Given the description of an element on the screen output the (x, y) to click on. 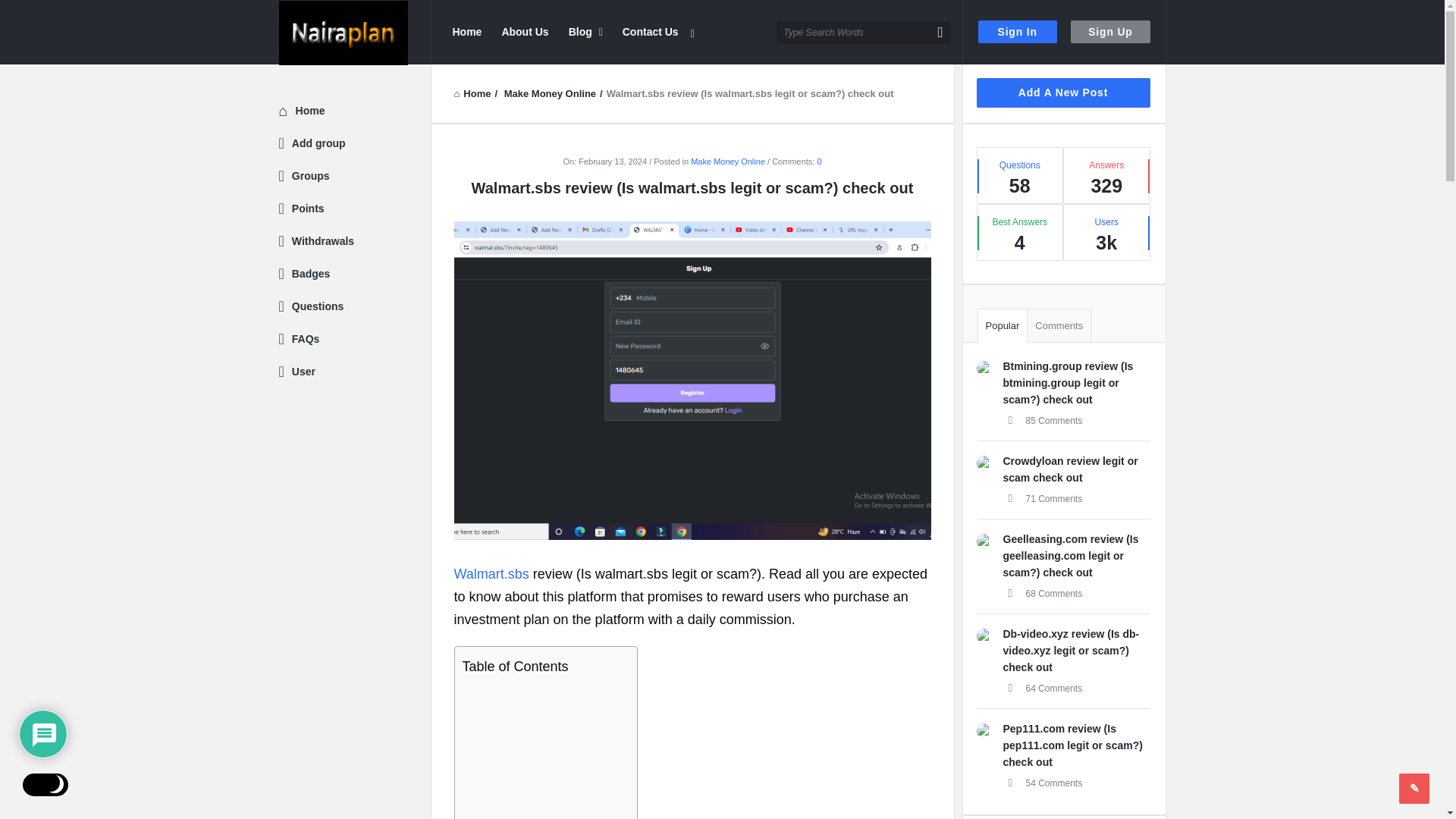
Blog (585, 32)
Contact Us (649, 32)
Nairaplan (343, 32)
Advertisement (541, 751)
Nairaplan (354, 32)
Sign Up (1110, 31)
Make Money Online (549, 93)
About Us (524, 32)
Home (466, 32)
Sign In (1017, 31)
Home (471, 93)
